Given the description of an element on the screen output the (x, y) to click on. 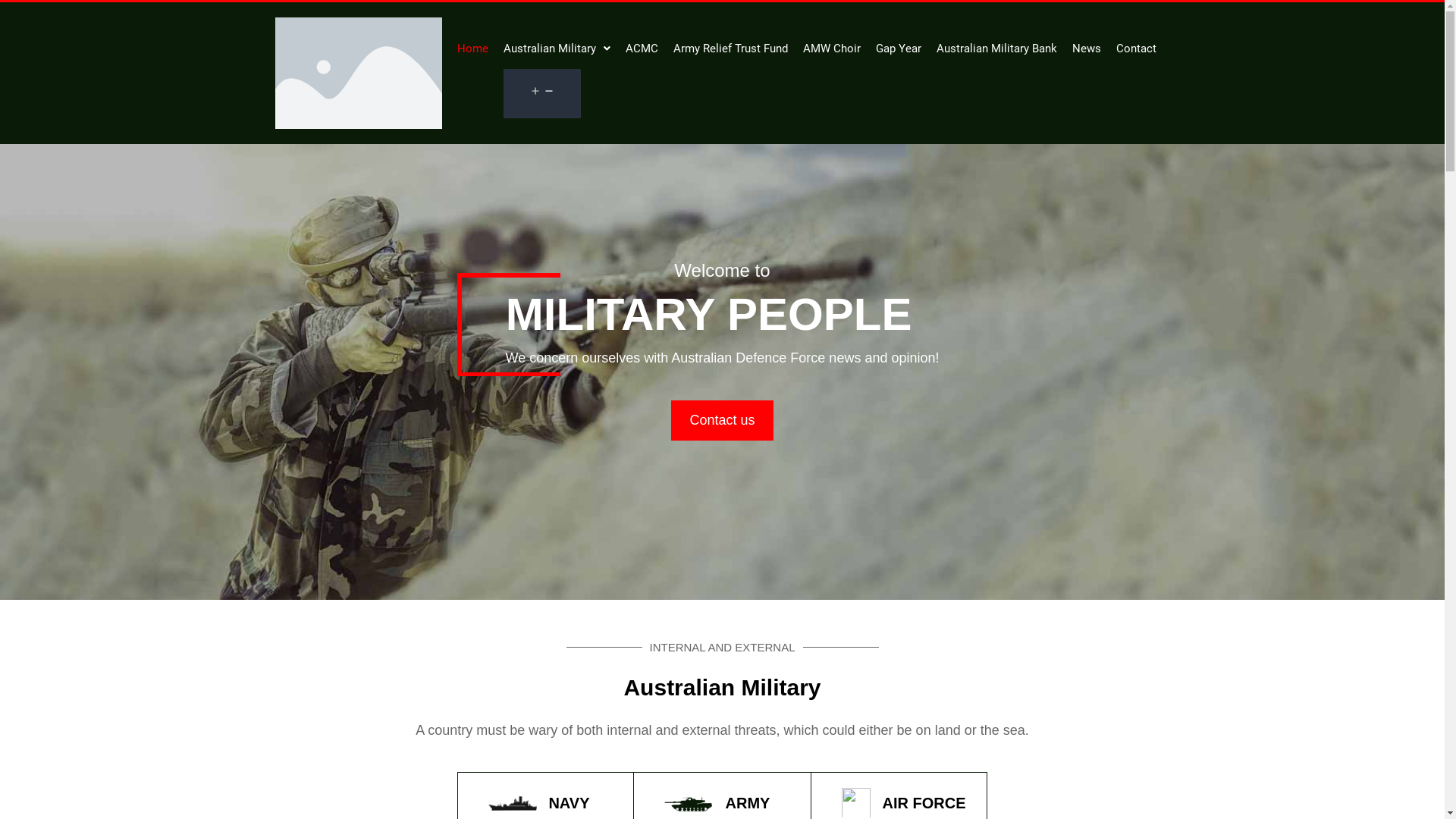
Australian Military Element type: text (556, 48)
Contact Element type: text (1136, 48)
Australian Military Bank Element type: text (995, 48)
Home Element type: text (471, 48)
ACMC Element type: text (640, 48)
Army Relief Trust Fund Element type: text (730, 48)
AMW Choir Element type: text (830, 48)
Contact us Element type: text (721, 420)
Gap Year Element type: text (897, 48)
News Element type: text (1086, 48)
